Given the description of an element on the screen output the (x, y) to click on. 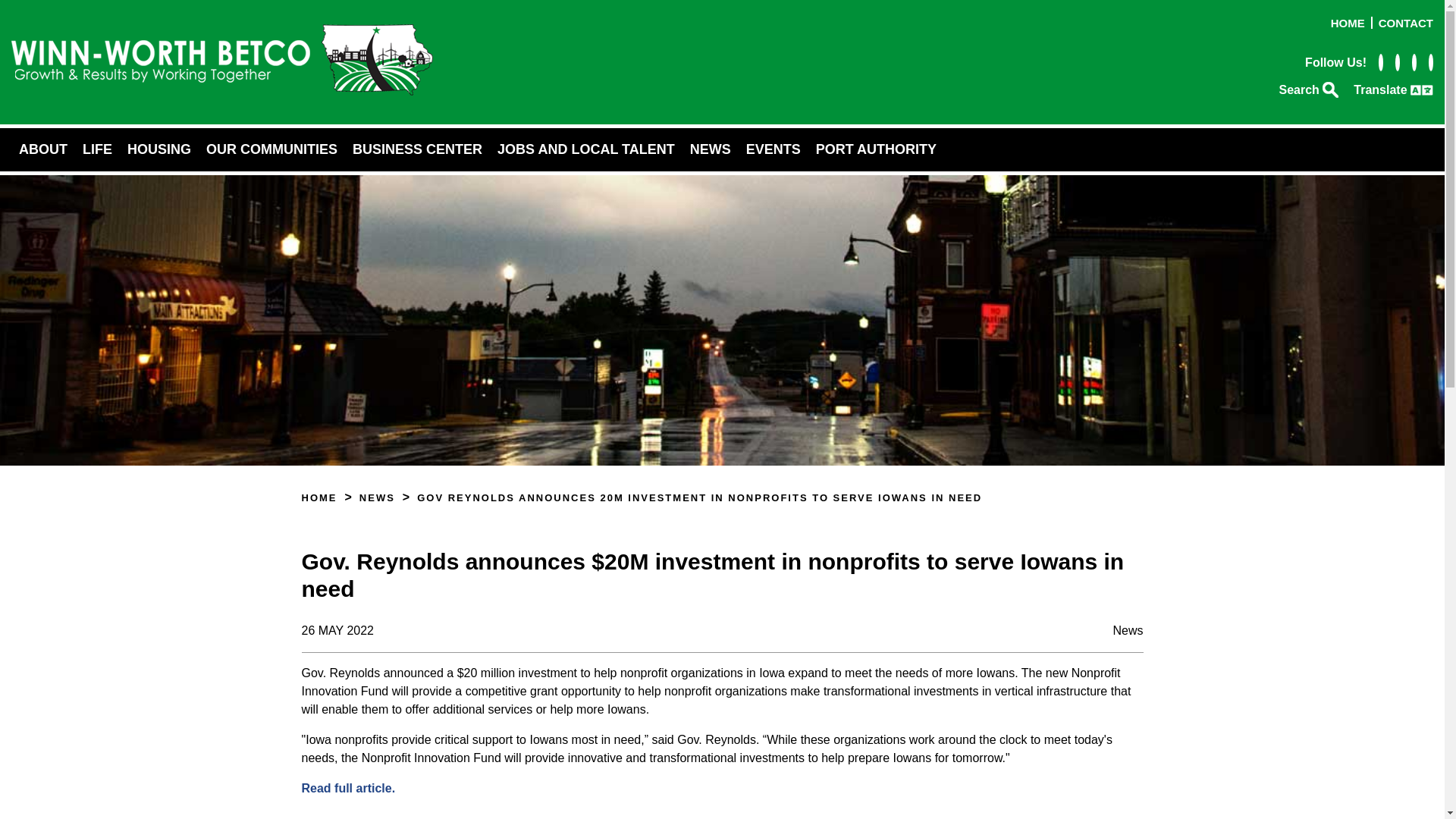
HOME (1347, 22)
CONTACT (1405, 22)
HOUSING (158, 148)
LIFE (97, 148)
ABOUT (43, 148)
OUR COMMUNITIES (271, 148)
